Given the description of an element on the screen output the (x, y) to click on. 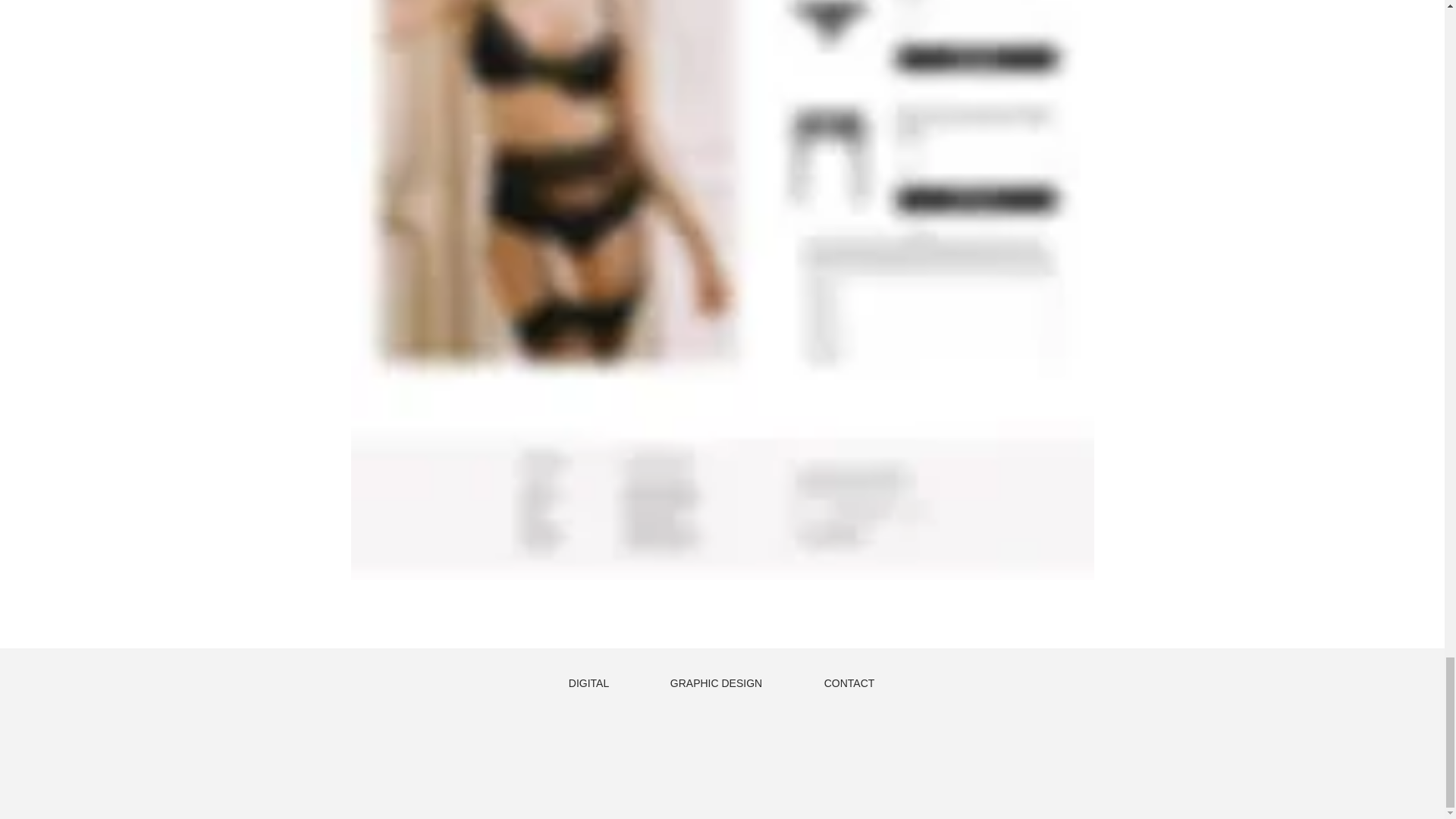
DIGITAL (588, 682)
GRAPHIC DESIGN (716, 682)
CONTACT (848, 682)
